Given the description of an element on the screen output the (x, y) to click on. 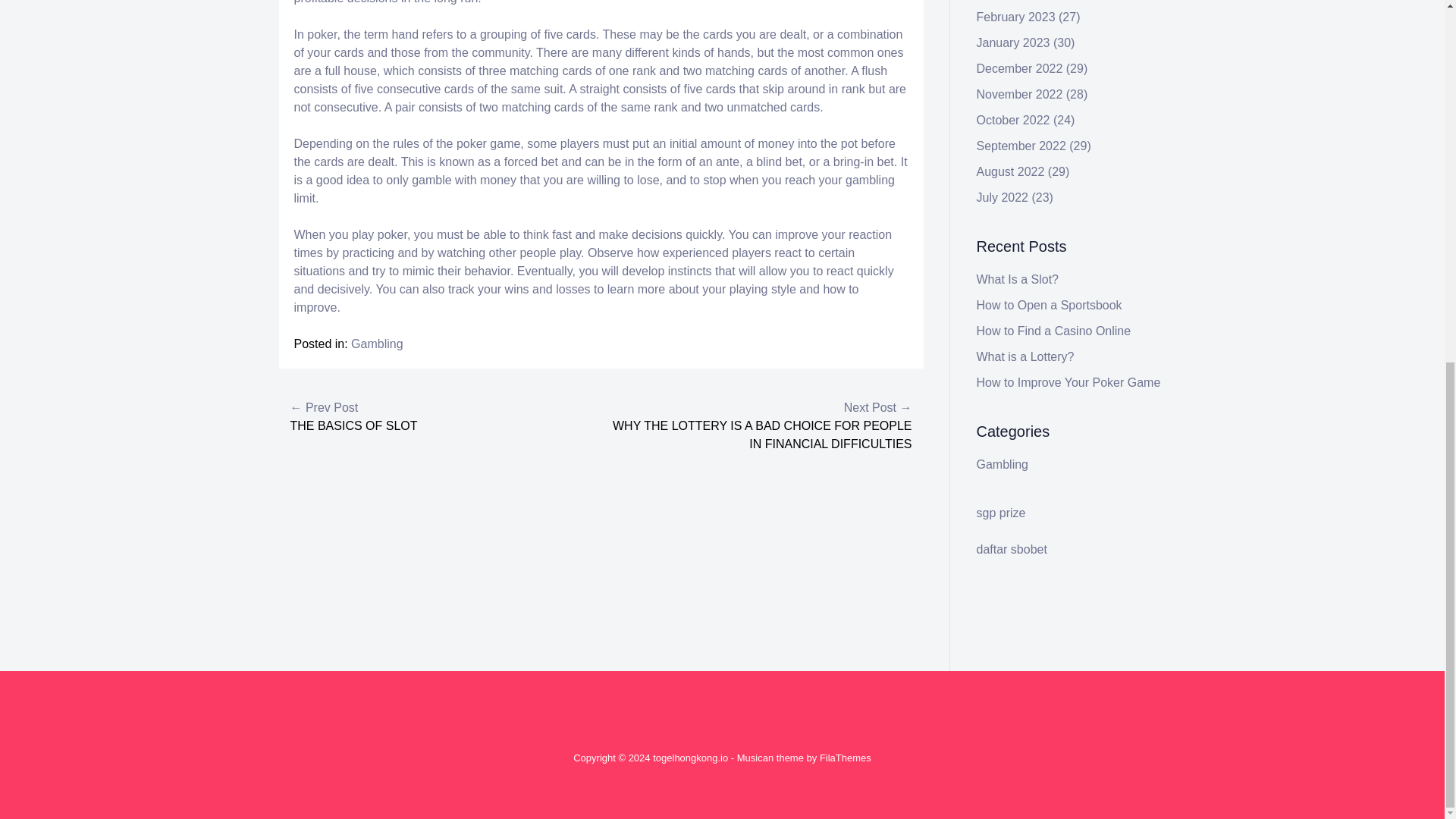
What is a Lottery? (1025, 356)
November 2022 (1019, 93)
January 2023 (1012, 42)
September 2022 (1020, 145)
December 2022 (1019, 68)
Gambling (1001, 463)
Gambling (376, 343)
How to Improve Your Poker Game (1068, 382)
October 2022 (1012, 119)
togelhongkong.io (690, 757)
How to Find a Casino Online (1053, 330)
What Is a Slot? (1017, 278)
How to Open a Sportsbook (1049, 305)
August 2022 (1010, 171)
February 2023 (1015, 16)
